Given the description of an element on the screen output the (x, y) to click on. 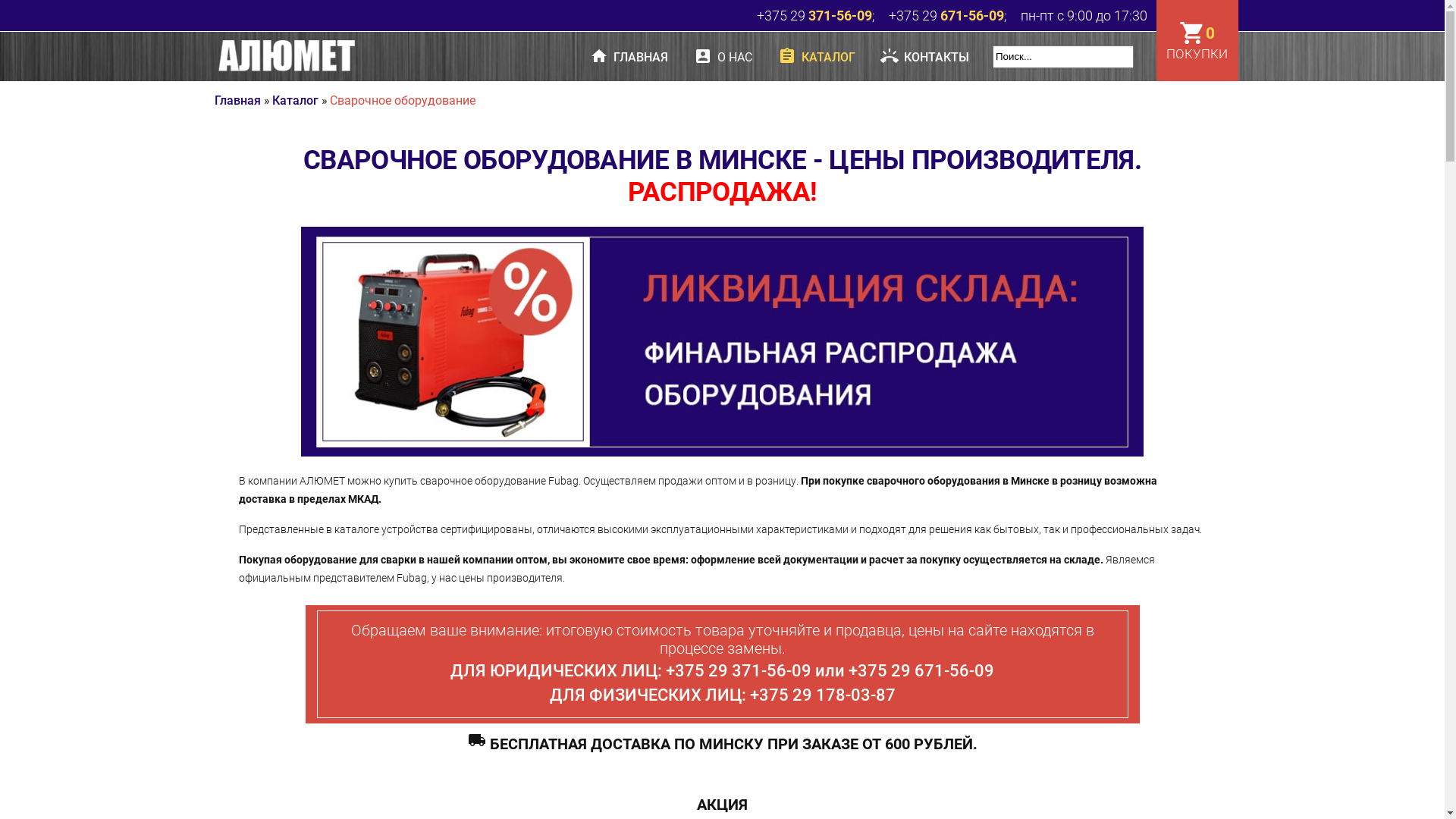
+375 29 671-56-09; Element type: text (952, 15)
+375 29 371-56-09 Element type: text (738, 670)
+375 29 371-56-09; Element type: text (820, 15)
+375 29 178-03-87 Element type: text (821, 694)
+375 29 671-56-09 Element type: text (921, 670)
